Given the description of an element on the screen output the (x, y) to click on. 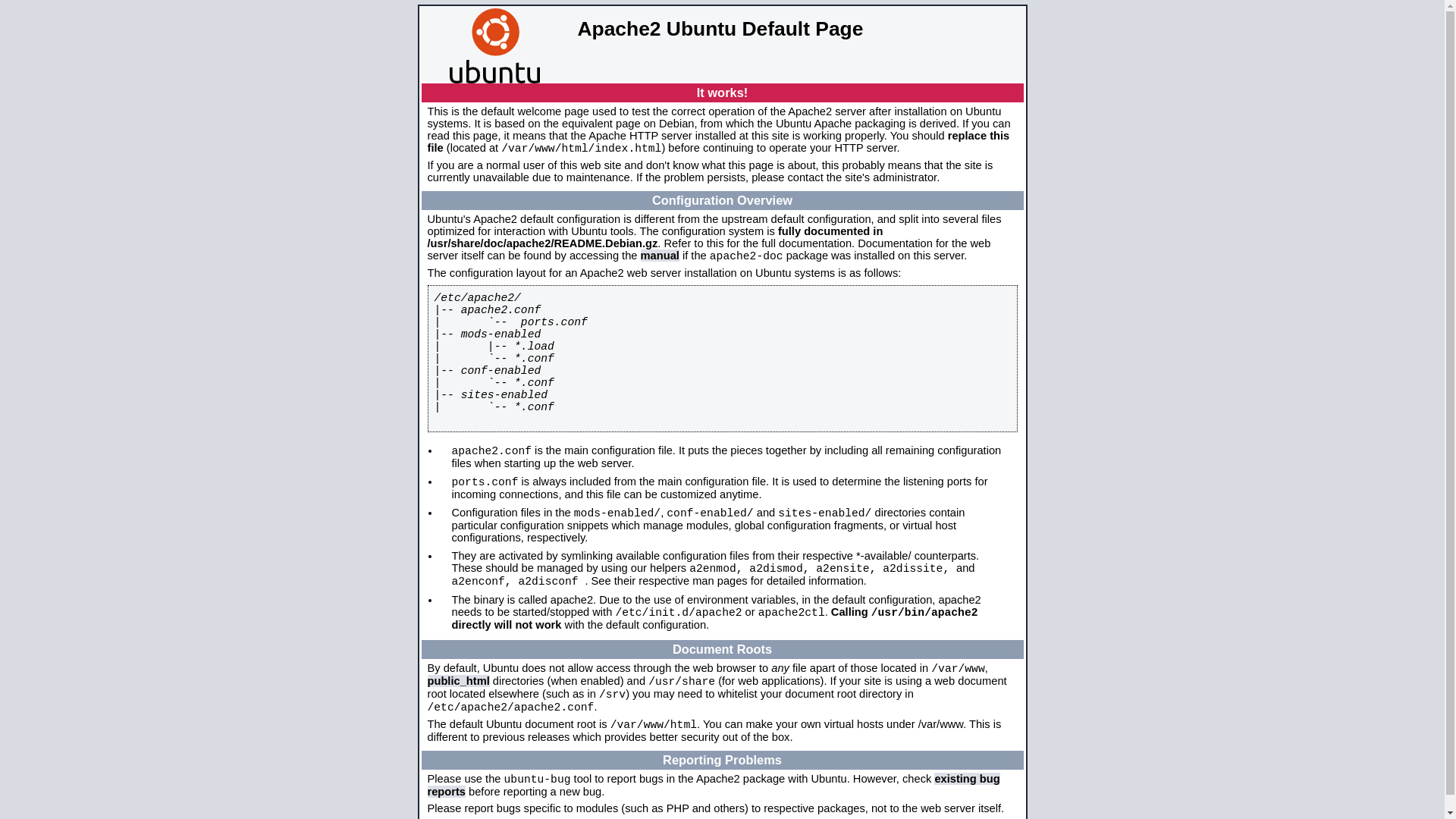
existing bug reports Element type: text (713, 784)
public_html Element type: text (458, 680)
manual Element type: text (659, 255)
